Given the description of an element on the screen output the (x, y) to click on. 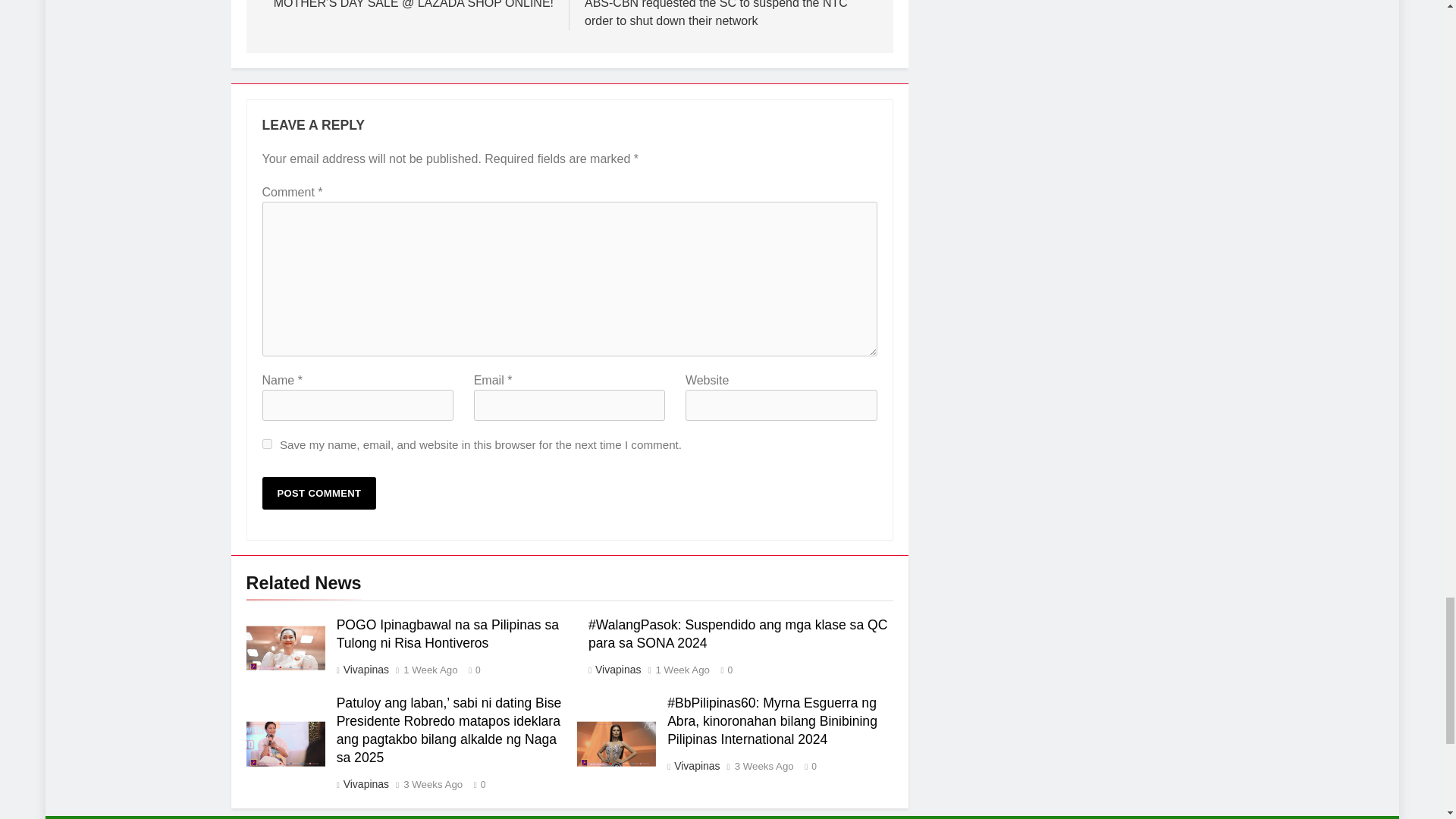
yes (267, 443)
Post Comment (319, 492)
